Given the description of an element on the screen output the (x, y) to click on. 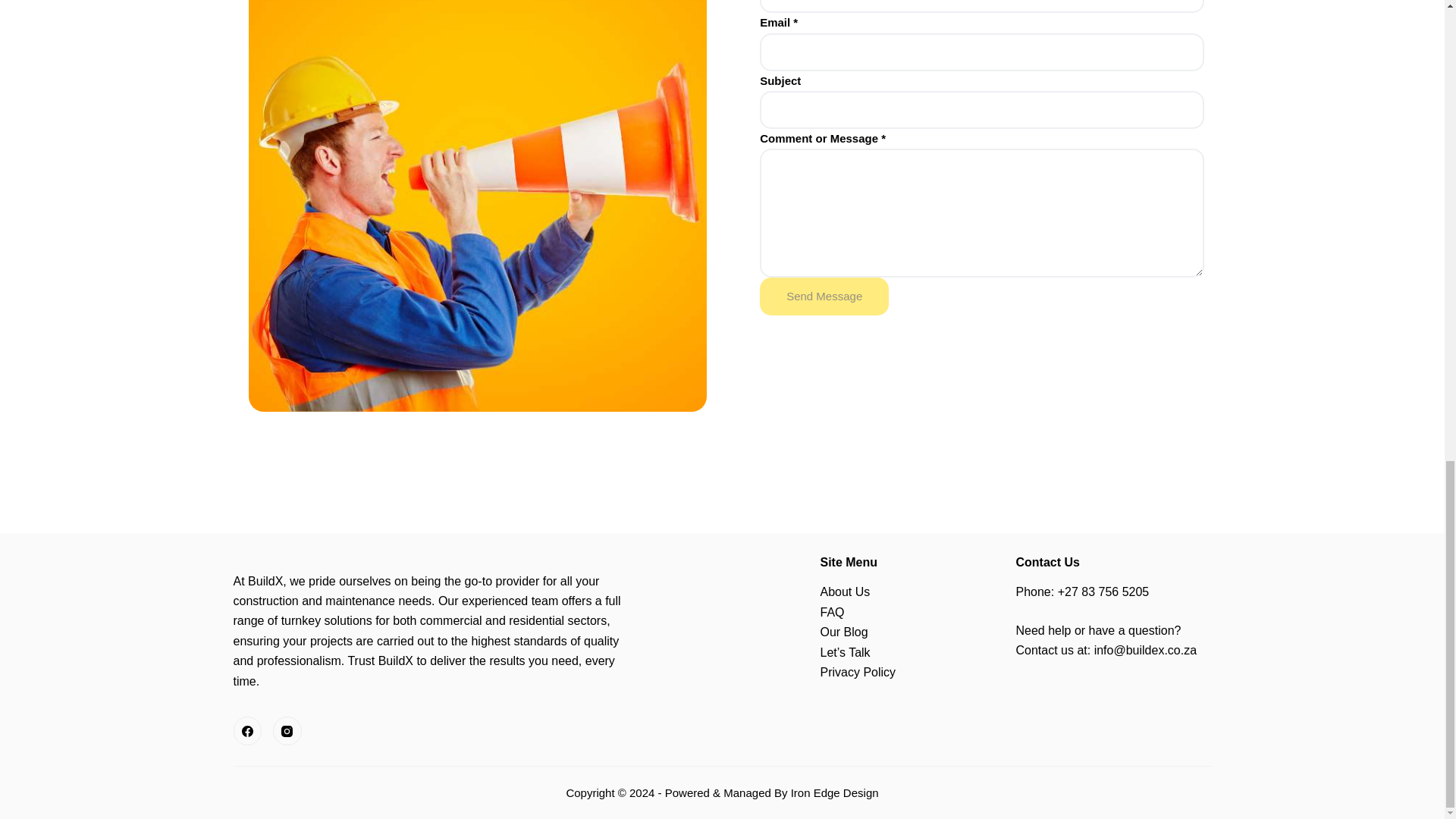
Iron Edge Design (834, 792)
FAQ (832, 612)
About Us (845, 591)
Send Message (824, 296)
Our Blog (844, 631)
Privacy Policy (858, 671)
